Given the description of an element on the screen output the (x, y) to click on. 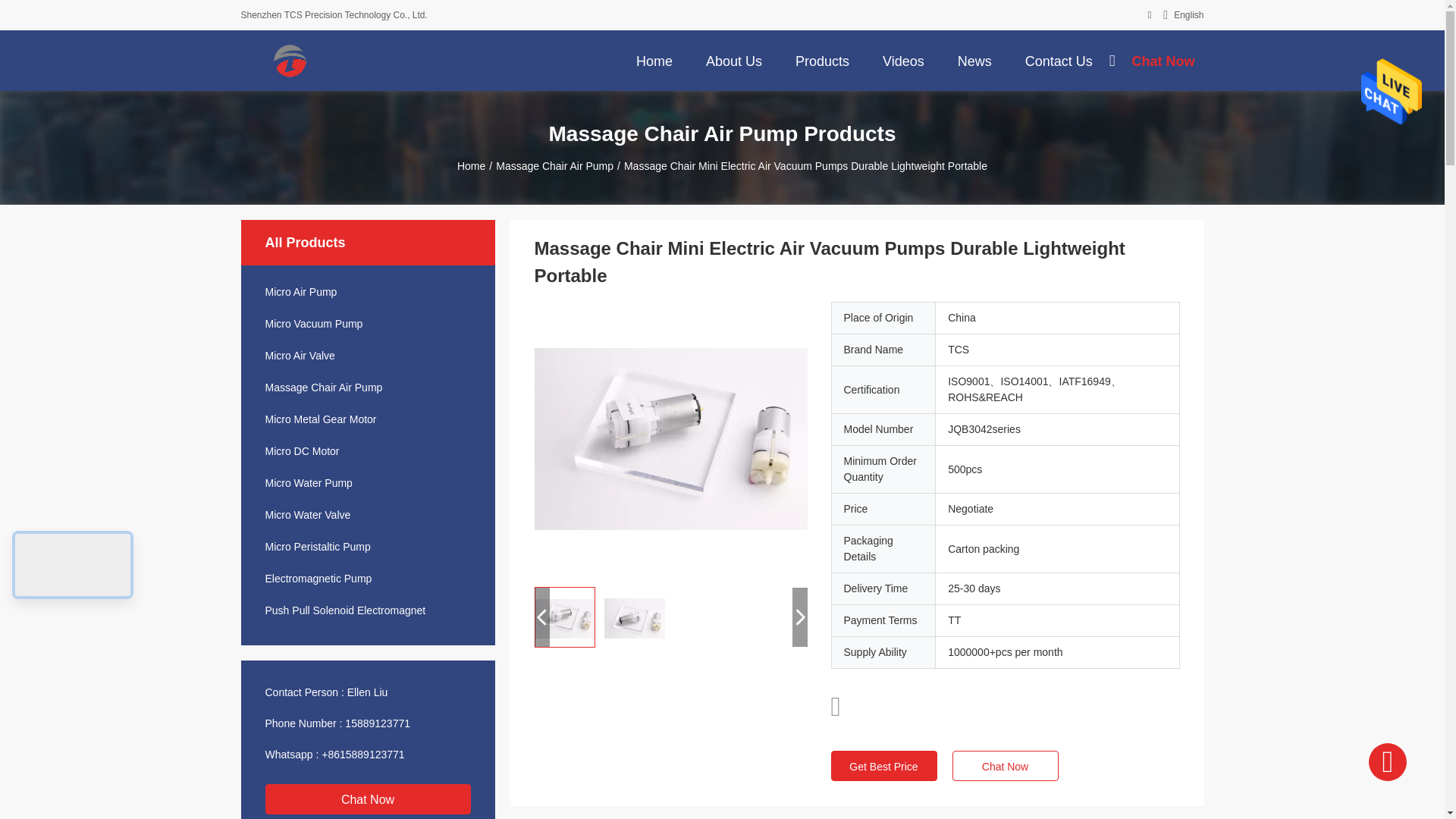
Contact Us (1059, 60)
Home (654, 60)
Home (654, 60)
Products (822, 60)
About Us (734, 60)
Videos (903, 60)
Shenzhen TCS Precision Technology Co., Ltd. (290, 60)
About Us (734, 60)
